Given the description of an element on the screen output the (x, y) to click on. 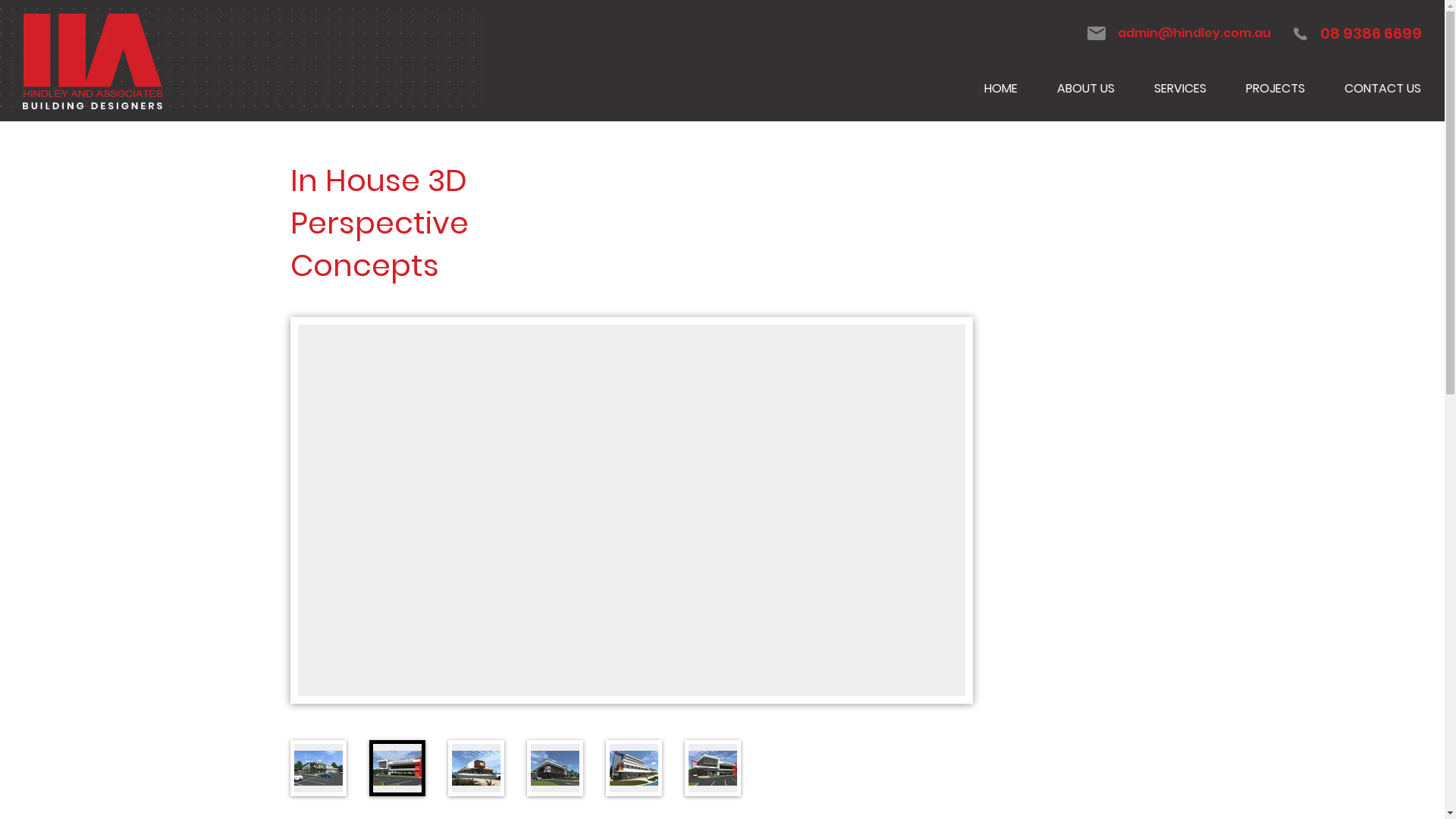
CONTACT US Element type: text (1382, 88)
admin@hindley.com.au Element type: text (1178, 32)
Hindley And Associates Element type: hover (92, 60)
PROJECTS Element type: text (1275, 88)
SERVICES Element type: text (1180, 88)
08 9386 6699 Element type: text (1357, 33)
ABOUT US Element type: text (1085, 88)
HOME Element type: text (1000, 88)
